Given the description of an element on the screen output the (x, y) to click on. 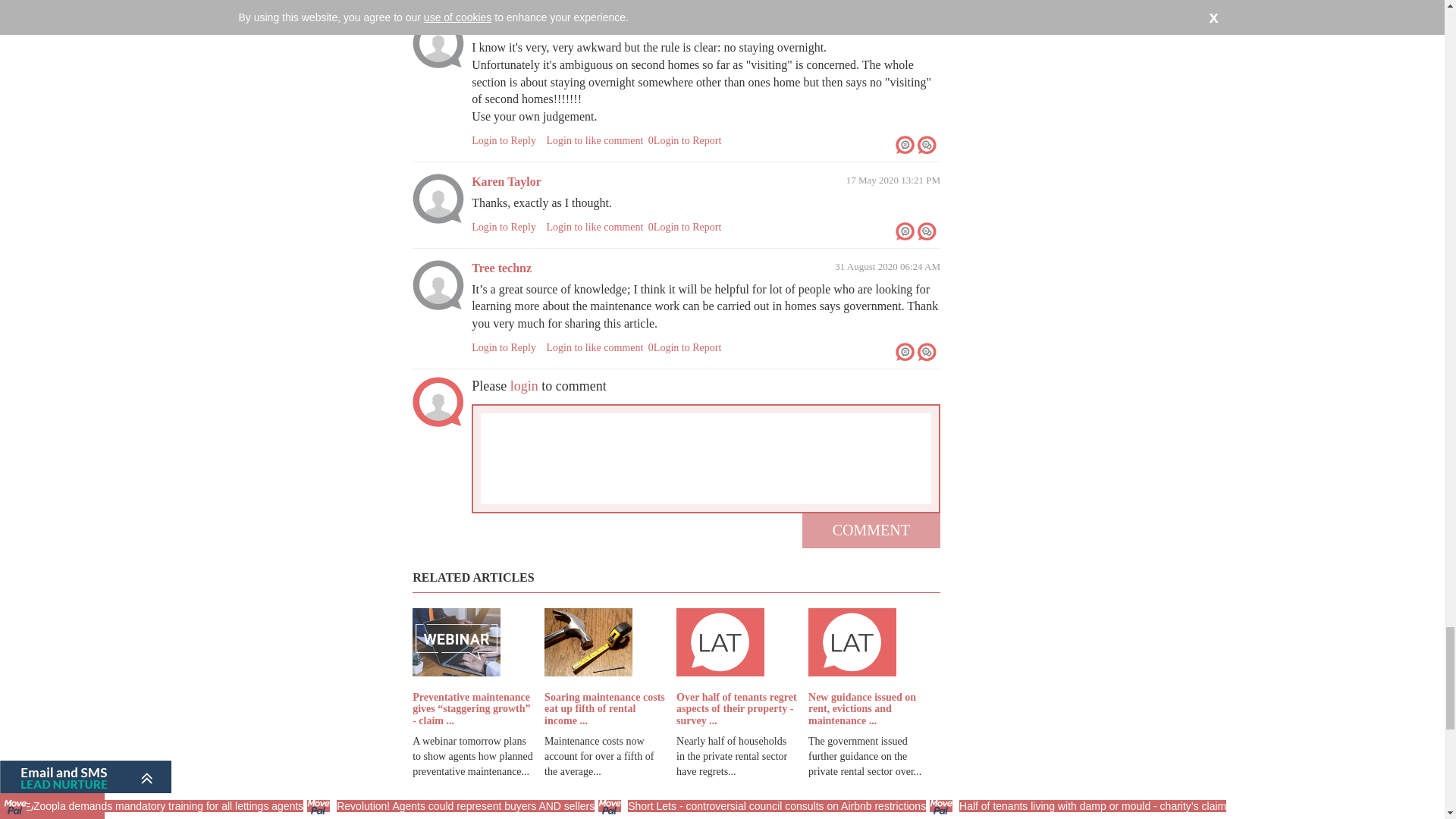
Comment (871, 529)
